Given the description of an element on the screen output the (x, y) to click on. 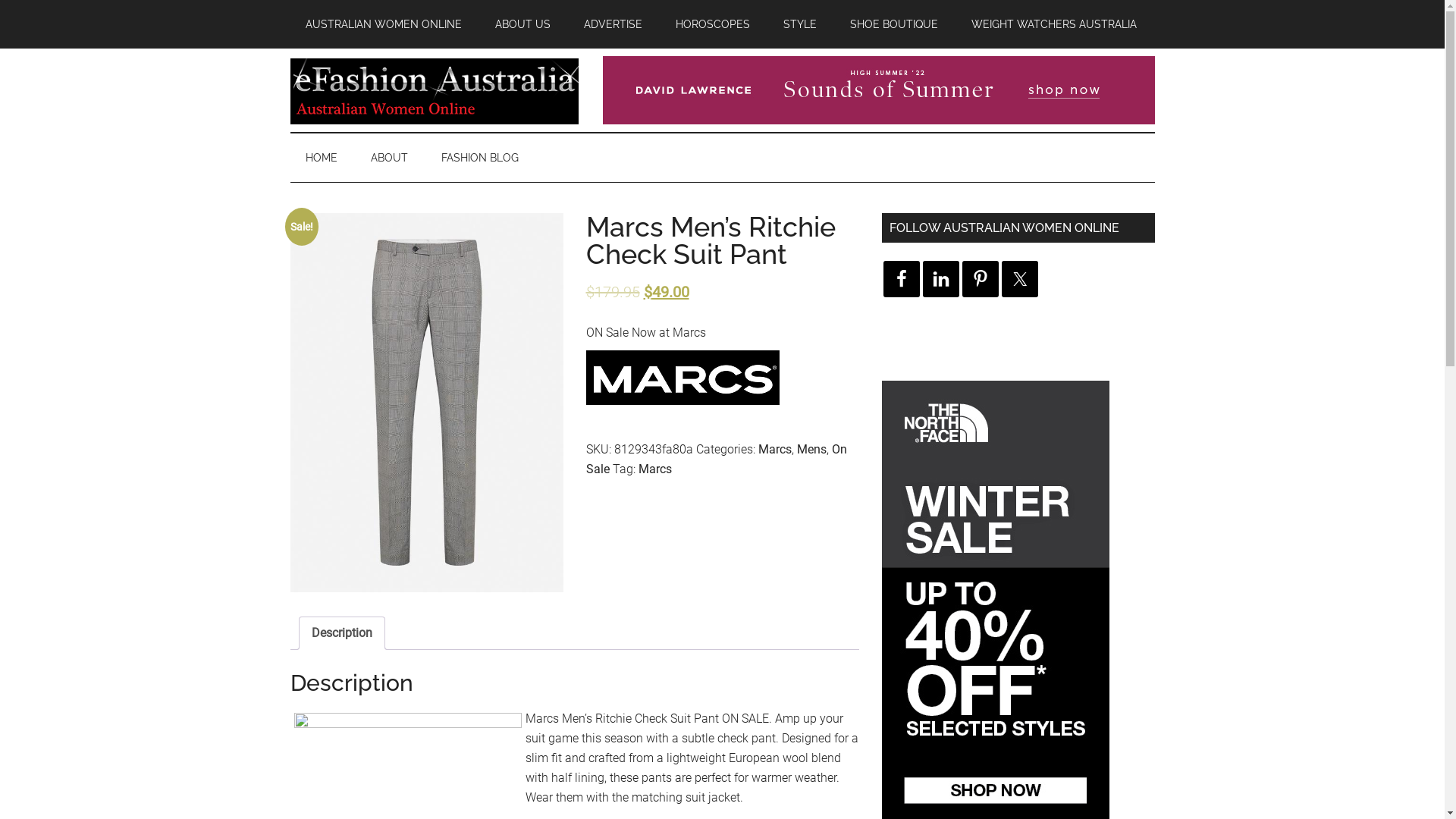
On Sale Element type: text (715, 458)
AUSTRALIAN WOMEN ONLINE Element type: text (382, 24)
eFashion Australia Element type: text (433, 90)
Description Element type: text (340, 633)
HOROSCOPES Element type: text (711, 24)
Marcs Element type: text (774, 448)
Marcs Element type: text (654, 468)
SHOE BOUTIQUE Element type: text (893, 24)
ADVERTISE Element type: text (612, 24)
STYLE Element type: text (799, 24)
HOME Element type: text (320, 157)
WEIGHT WATCHERS AUSTRALIA Element type: text (1053, 24)
Mens Element type: text (810, 448)
117313274 Element type: hover (425, 402)
ABOUT Element type: text (388, 157)
FASHION BLOG Element type: text (479, 157)
ABOUT US Element type: text (521, 24)
